Given the description of an element on the screen output the (x, y) to click on. 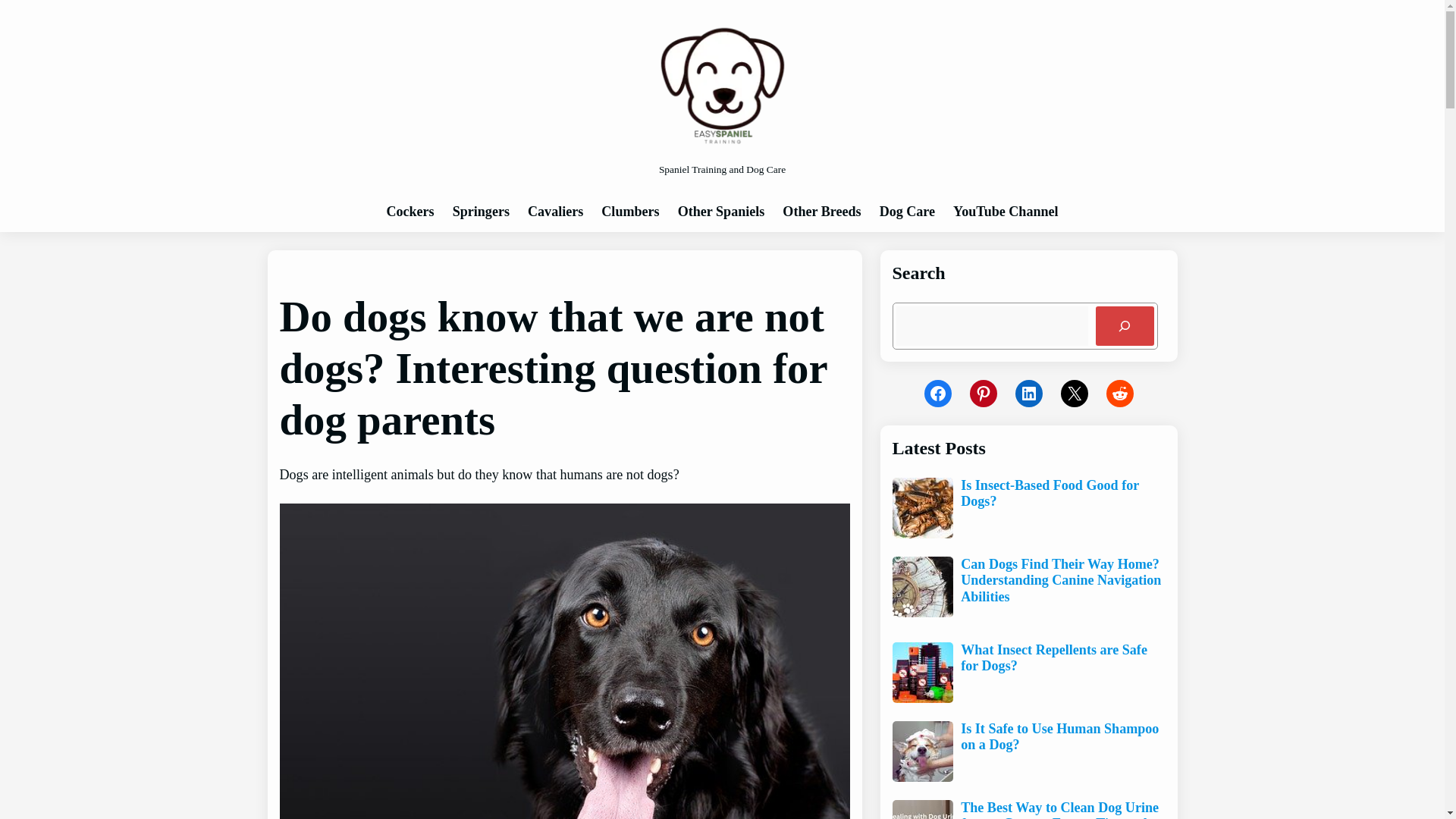
Other Breeds (821, 211)
Cockers (409, 211)
Springers (480, 211)
Clumbers (630, 211)
Dog Care (906, 211)
YouTube Channel (1005, 211)
Cavaliers (555, 211)
Other Spaniels (721, 211)
